Given the description of an element on the screen output the (x, y) to click on. 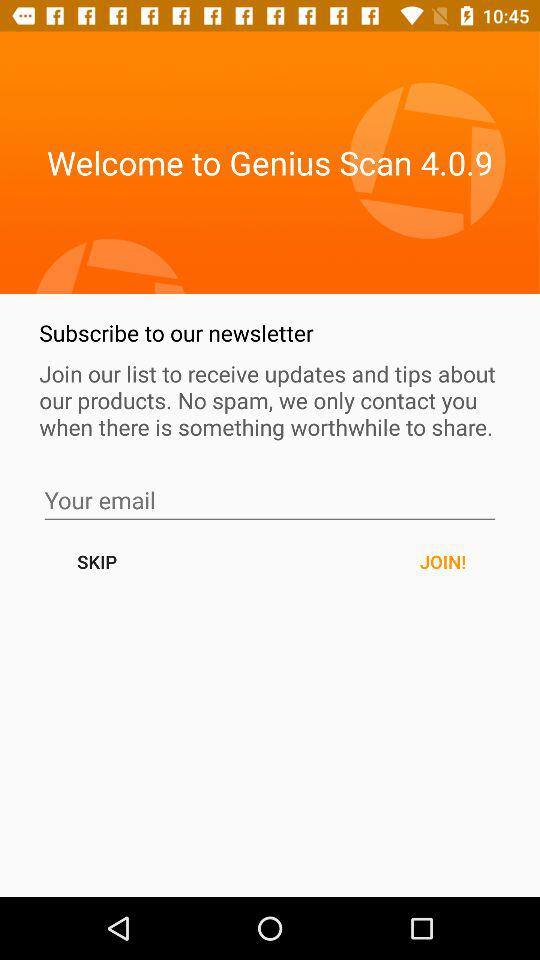
select button to the right of skip icon (442, 561)
